Given the description of an element on the screen output the (x, y) to click on. 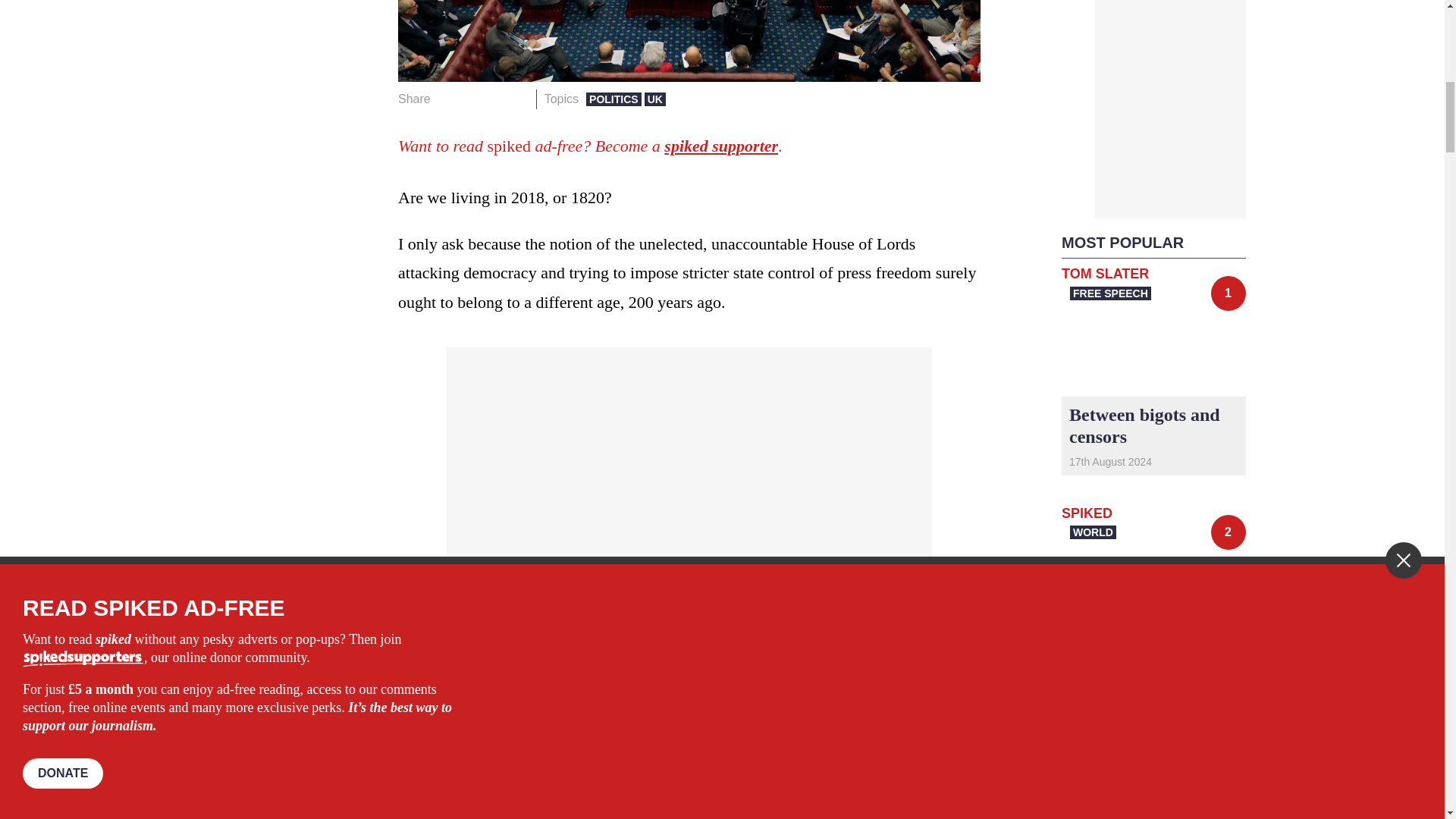
Share on Facebook (448, 98)
Share on Twitter (471, 98)
Share on Email (518, 98)
Share on Whatsapp (494, 98)
